Given the description of an element on the screen output the (x, y) to click on. 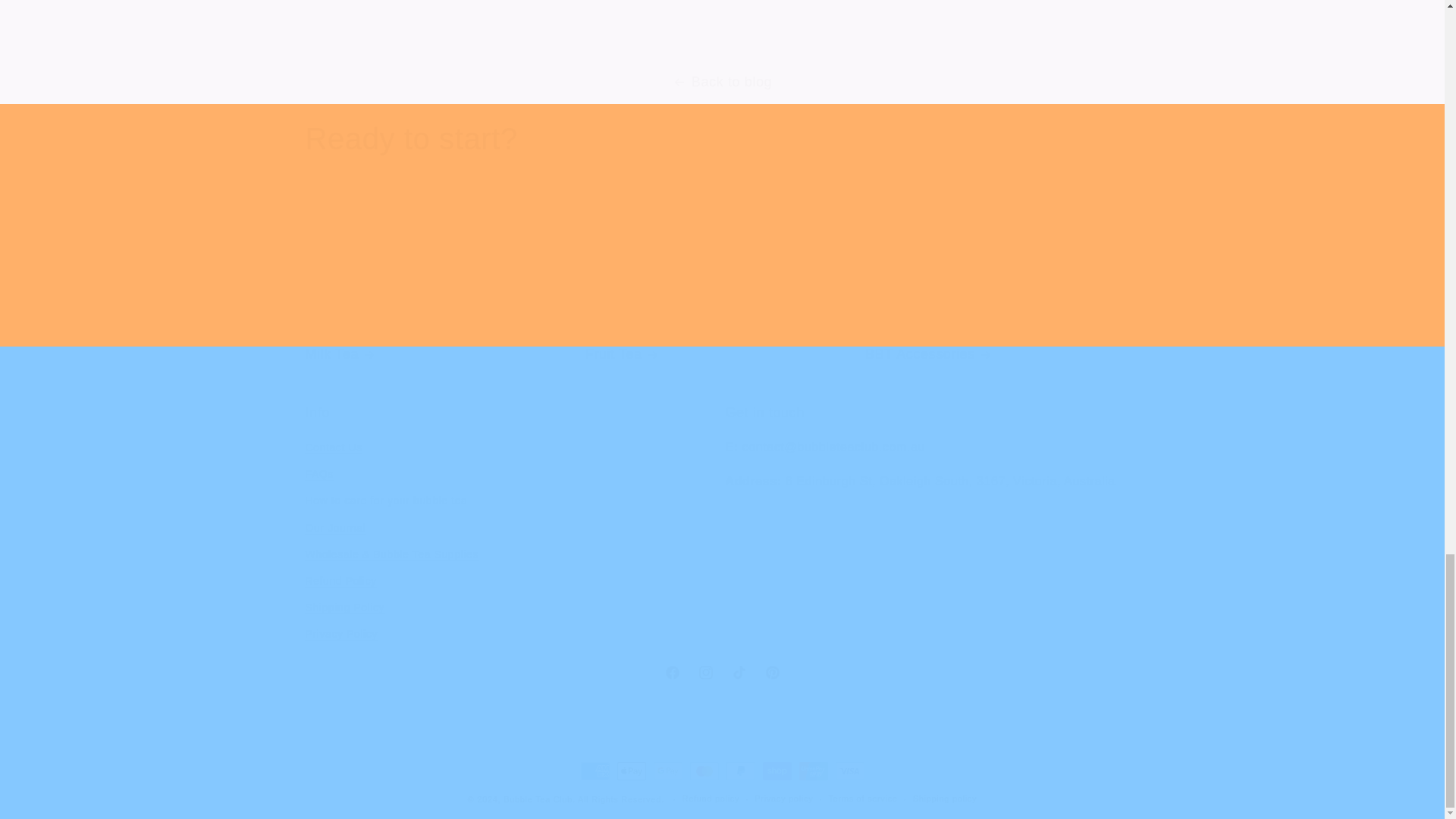
BBT Accessories (1001, 286)
Fruit Tea (722, 286)
Ready to start? (721, 672)
